Given the description of an element on the screen output the (x, y) to click on. 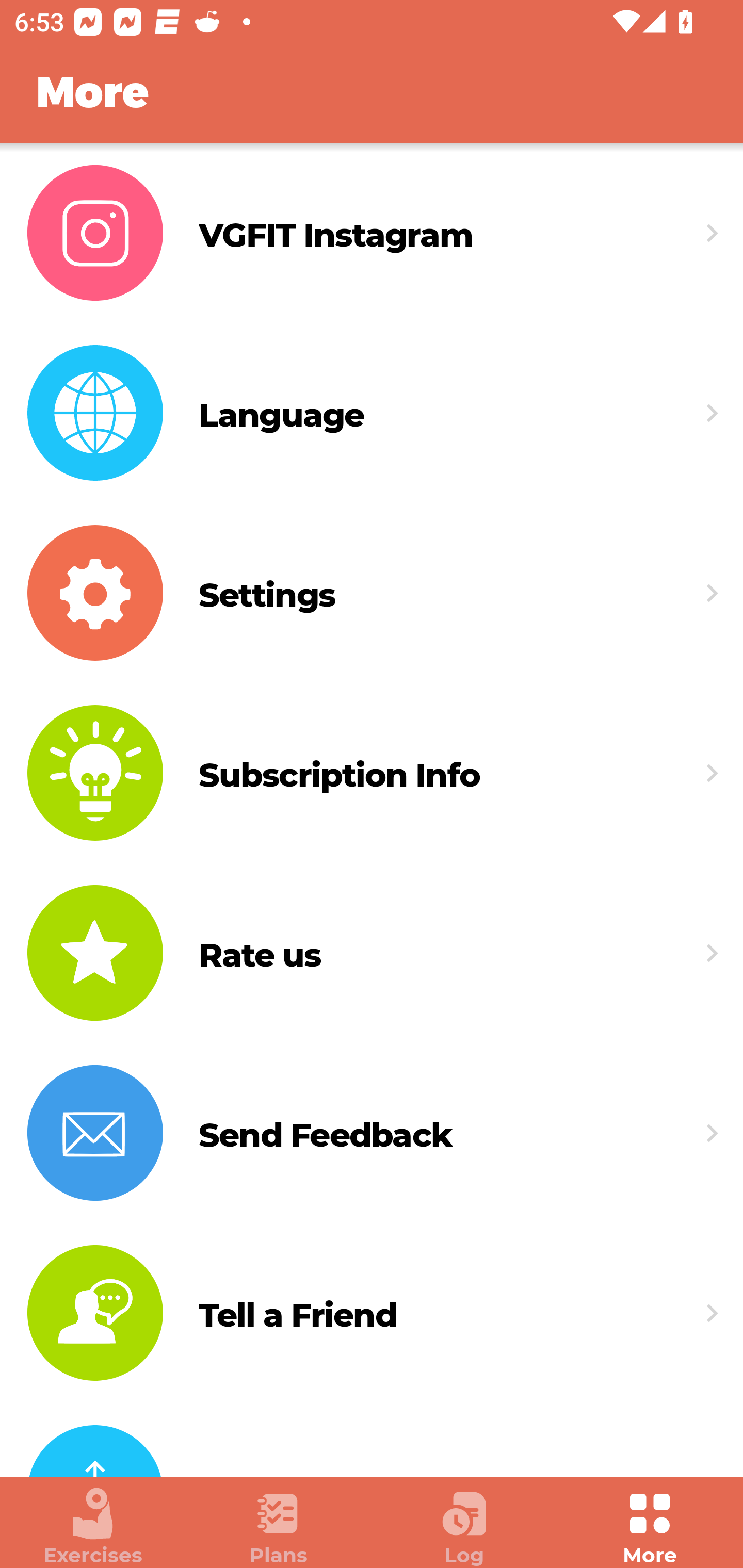
VGFIT Instagram (371, 232)
Language (371, 413)
Settings (371, 593)
Subscription Info (371, 773)
Rate us (371, 952)
Send Feedback (371, 1132)
Tell a Friend (371, 1313)
Share app (371, 1440)
Exercises (92, 1527)
Plans (278, 1527)
Log (464, 1527)
More (650, 1527)
